Given the description of an element on the screen output the (x, y) to click on. 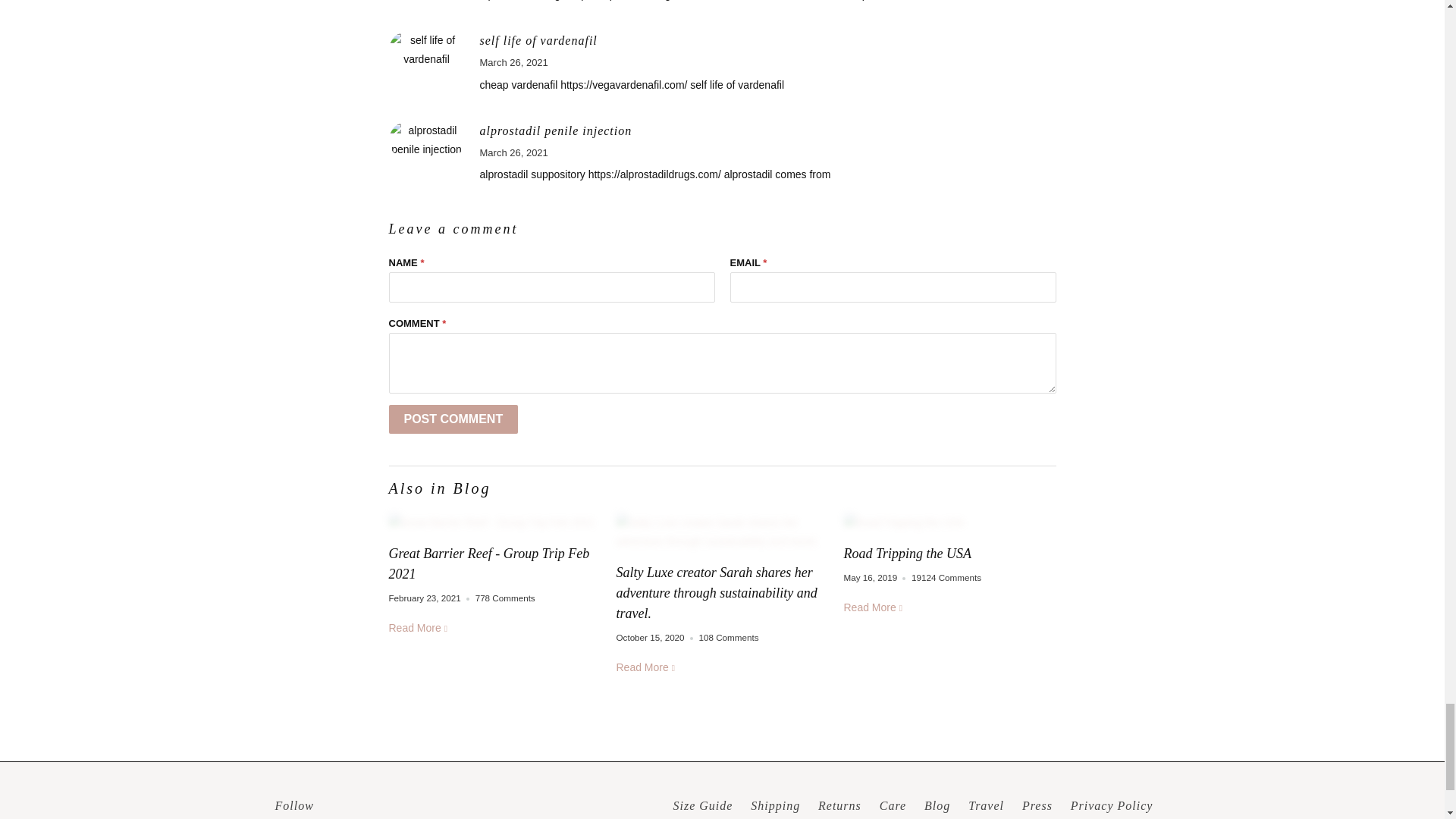
Post comment (453, 419)
Road Tripping the USA (949, 522)
Road Tripping the USA (873, 607)
Road Tripping the USA (907, 553)
Great Barrier Reef -  Group Trip Feb 2021 (488, 563)
Great Barrier Reef -  Group Trip Feb 2021 (493, 522)
Great Barrier Reef -  Group Trip Feb 2021 (418, 627)
